Given the description of an element on the screen output the (x, y) to click on. 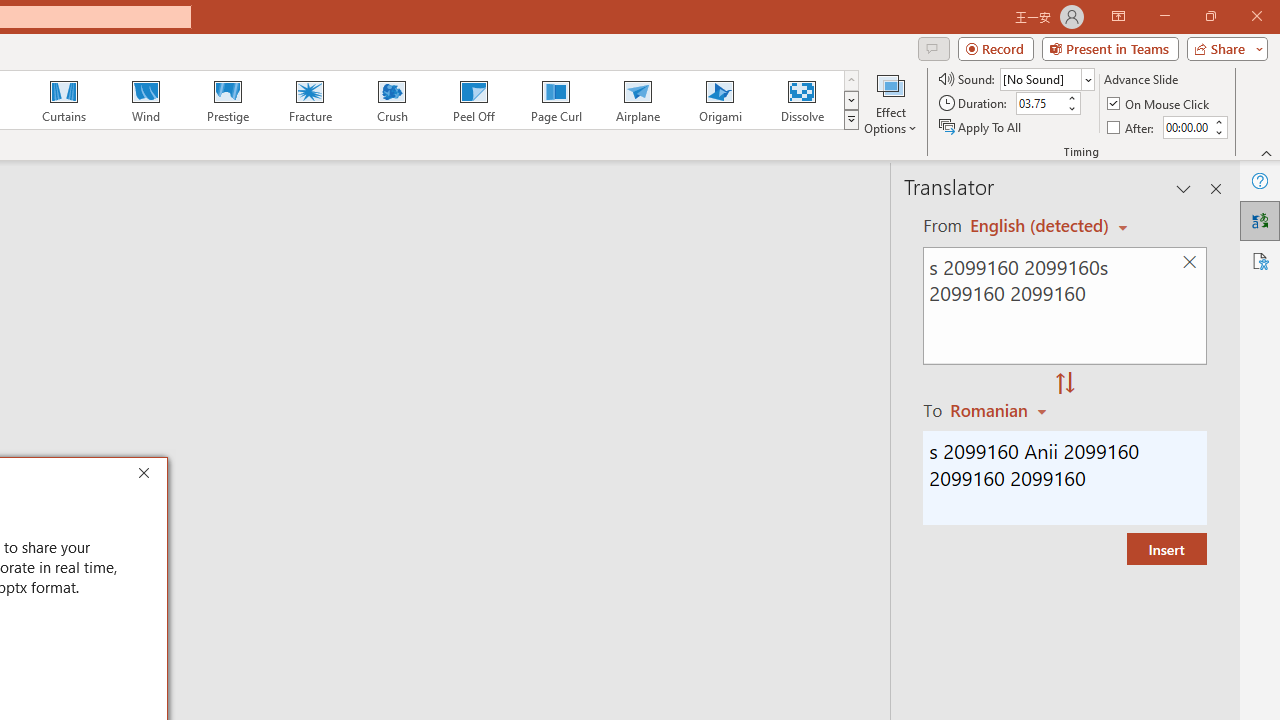
Airplane (637, 100)
Transition Effects (850, 120)
Apply To All (981, 126)
Crush (391, 100)
Swap "from" and "to" languages. (1065, 383)
Dissolve (802, 100)
Curtains (63, 100)
Prestige (227, 100)
